Given the description of an element on the screen output the (x, y) to click on. 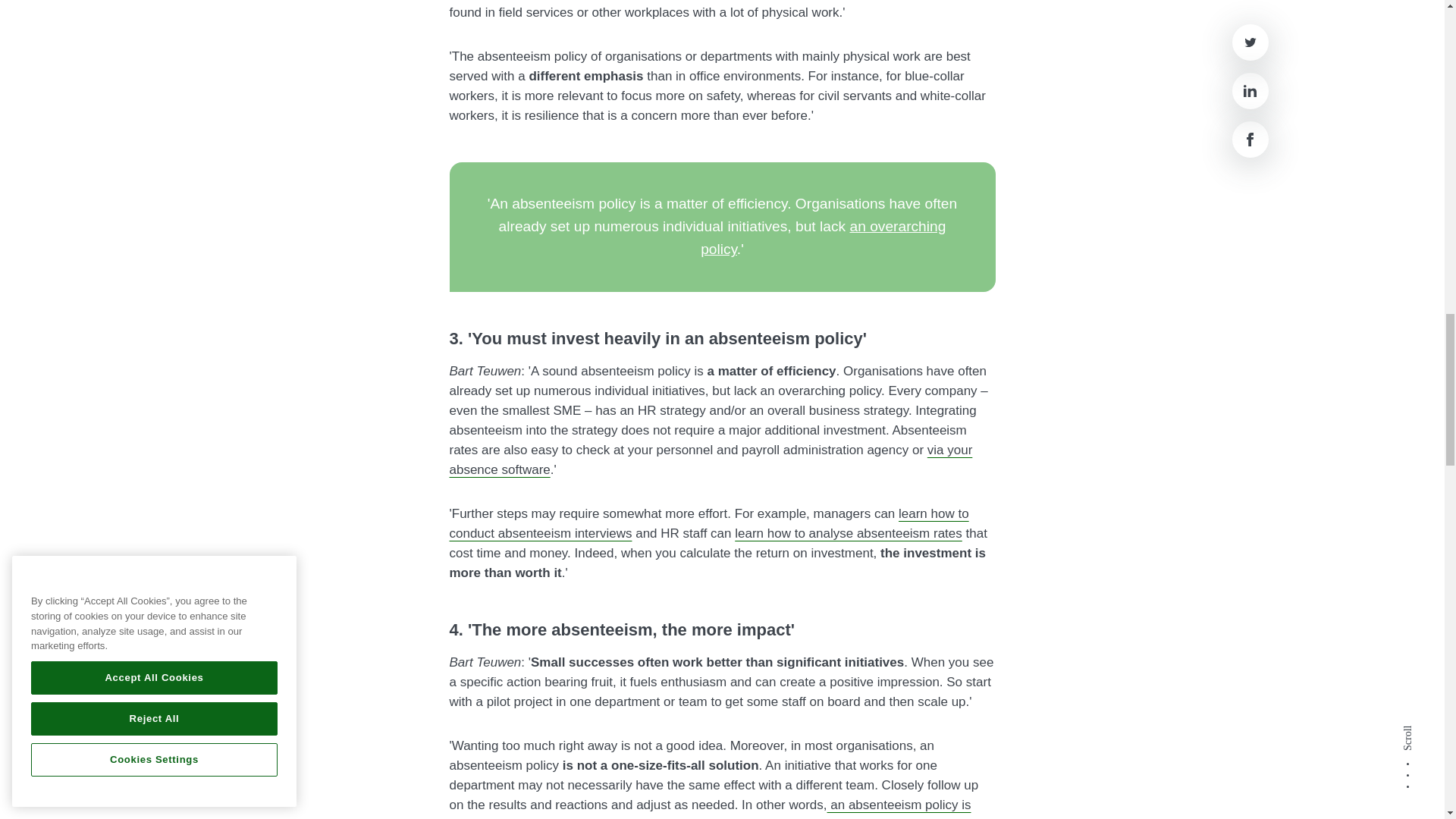
learn how to analyse absenteeism rates (848, 533)
an overarching policy (822, 237)
via your absence software (710, 459)
learn how to conduct absenteeism interviews (708, 523)
